Given the description of an element on the screen output the (x, y) to click on. 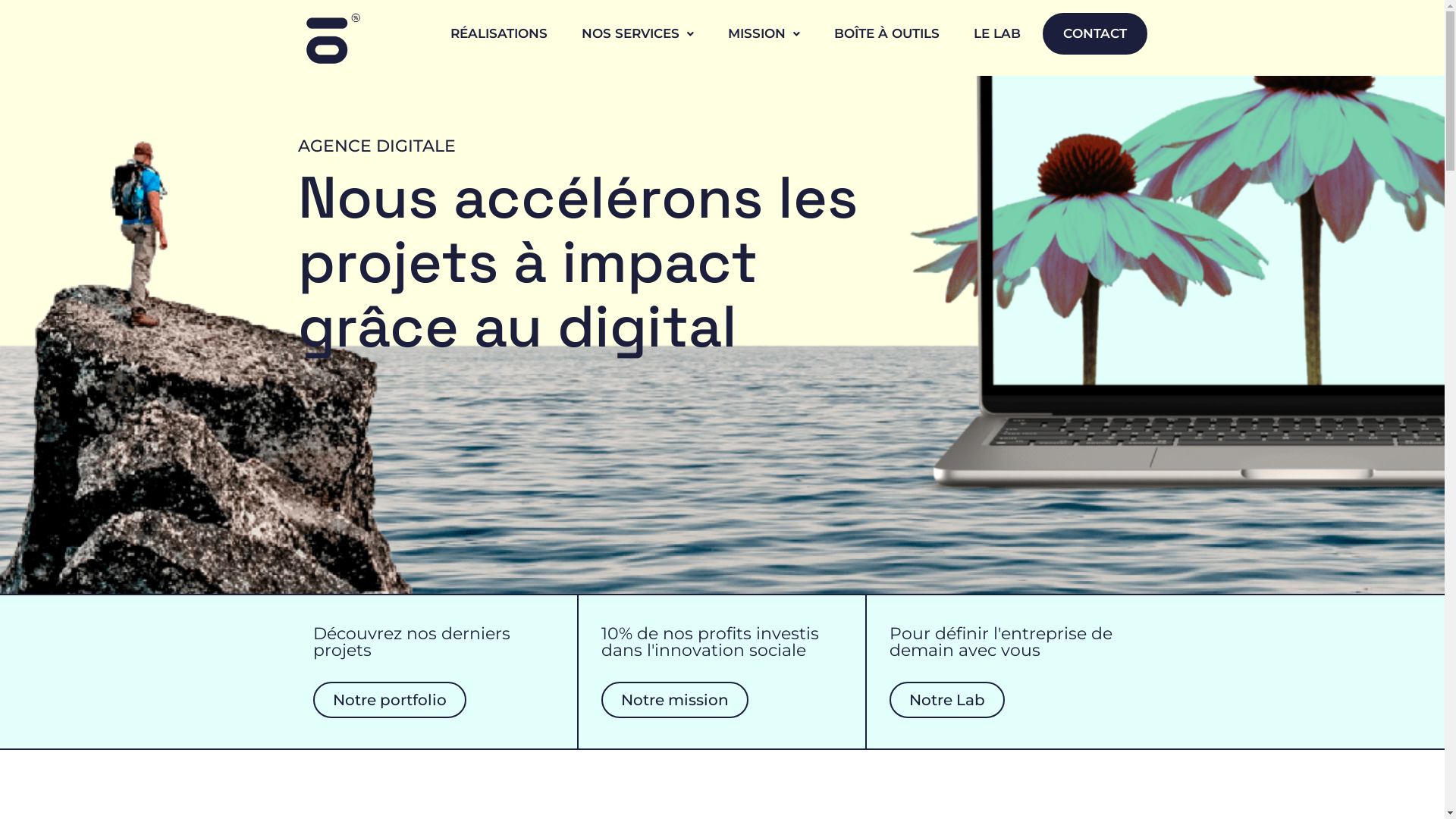
Notre portfolio Element type: text (388, 699)
LE LAB Element type: text (996, 33)
NOS SERVICES Element type: text (636, 33)
CONTACT Element type: text (1093, 33)
Notre mission Element type: text (674, 699)
MISSION Element type: text (763, 33)
Notre Lab Element type: text (946, 699)
